Given the description of an element on the screen output the (x, y) to click on. 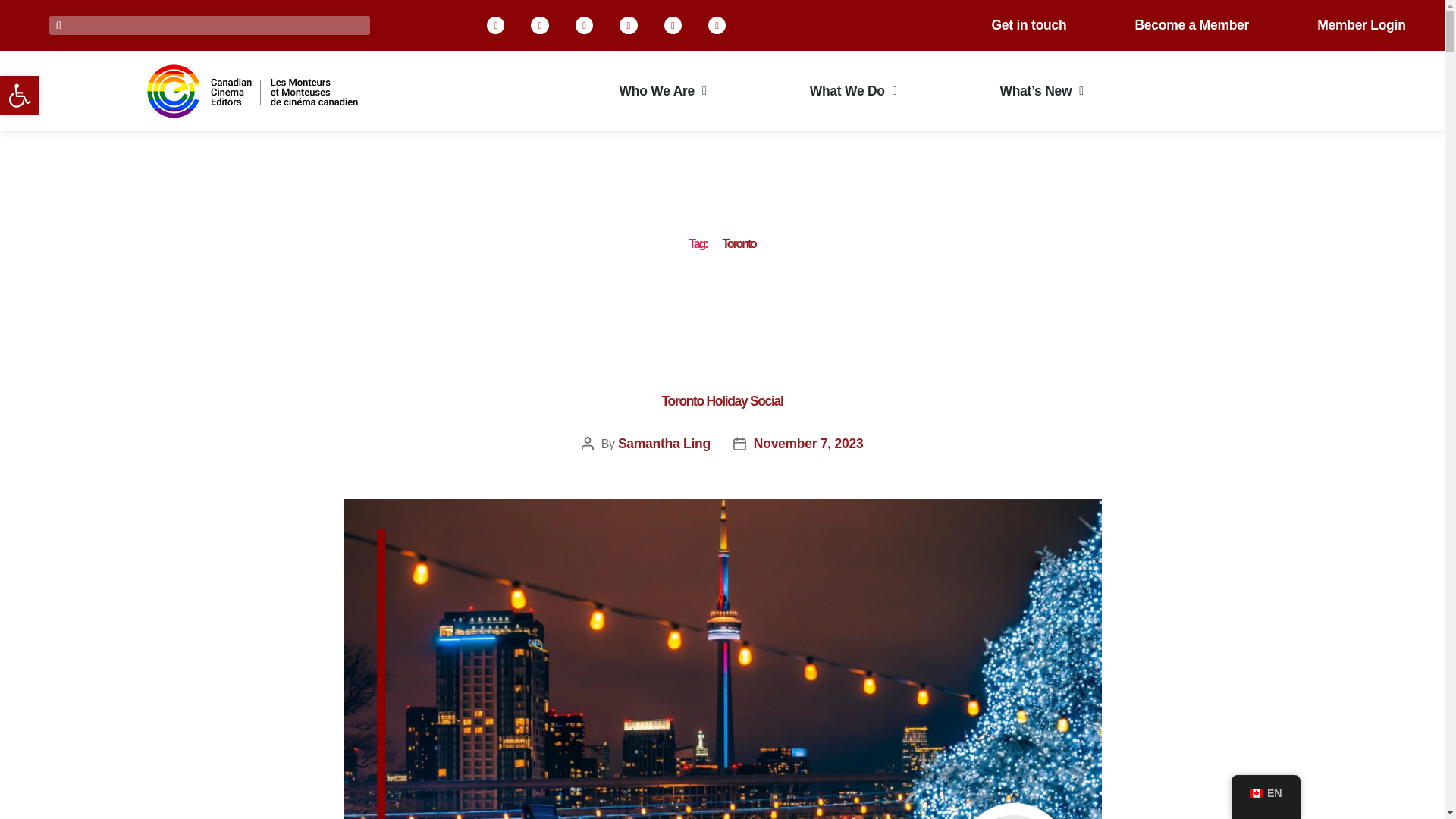
Member Login (1360, 24)
Open toolbar (19, 95)
Get in touch (1028, 24)
Become a Member (1191, 24)
Accessibility Tools (19, 95)
What We Do (852, 90)
Who We Are (662, 90)
